Given the description of an element on the screen output the (x, y) to click on. 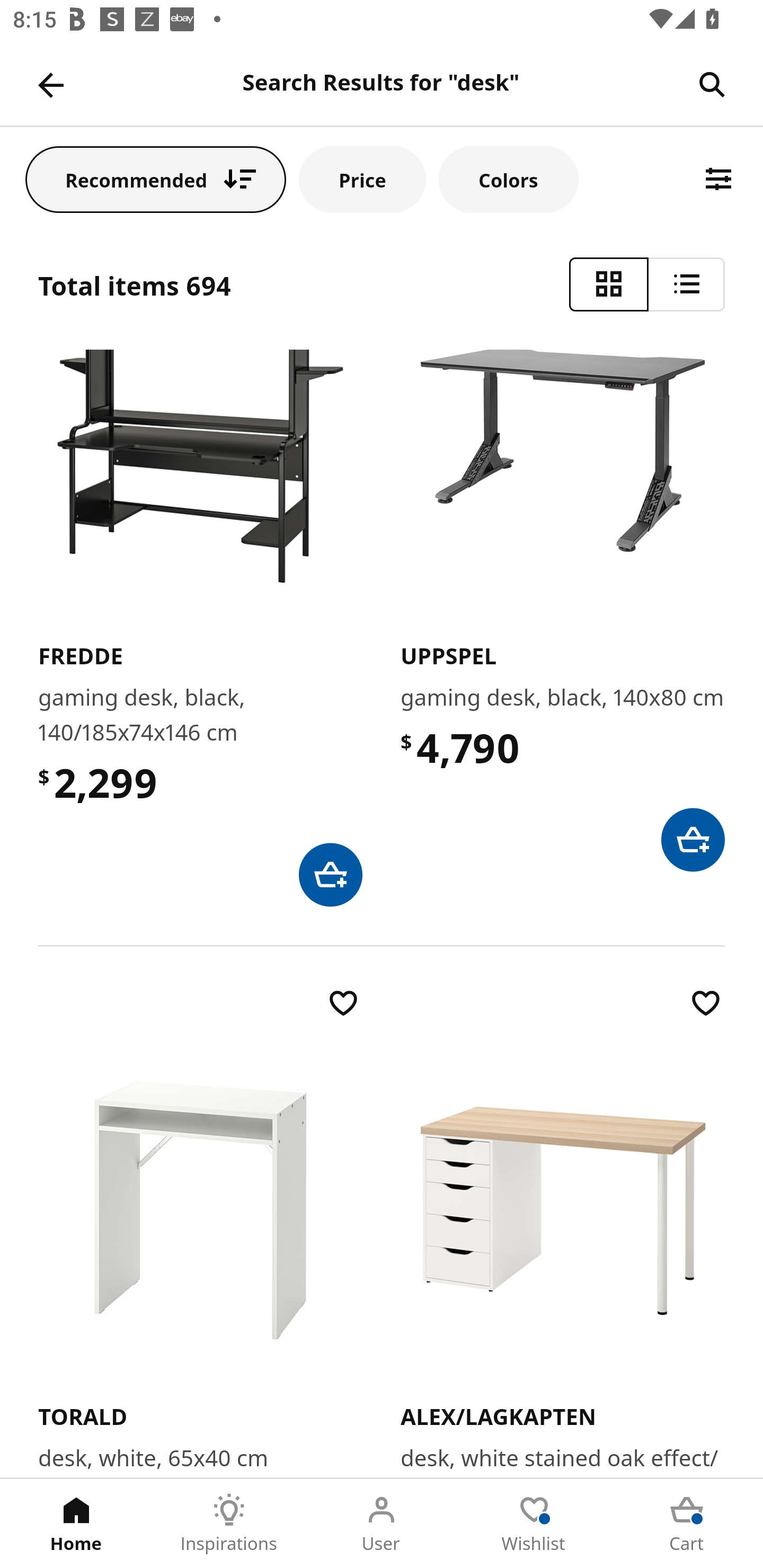
Recommended (155, 179)
Price (362, 179)
Colors (508, 179)
​T​O​R​A​L​D​
desk, white, 65x40 cm
$
199
.9 (200, 1230)
Home
Tab 1 of 5 (76, 1522)
Inspirations
Tab 2 of 5 (228, 1522)
User
Tab 3 of 5 (381, 1522)
Wishlist
Tab 4 of 5 (533, 1522)
Cart
Tab 5 of 5 (686, 1522)
